Given the description of an element on the screen output the (x, y) to click on. 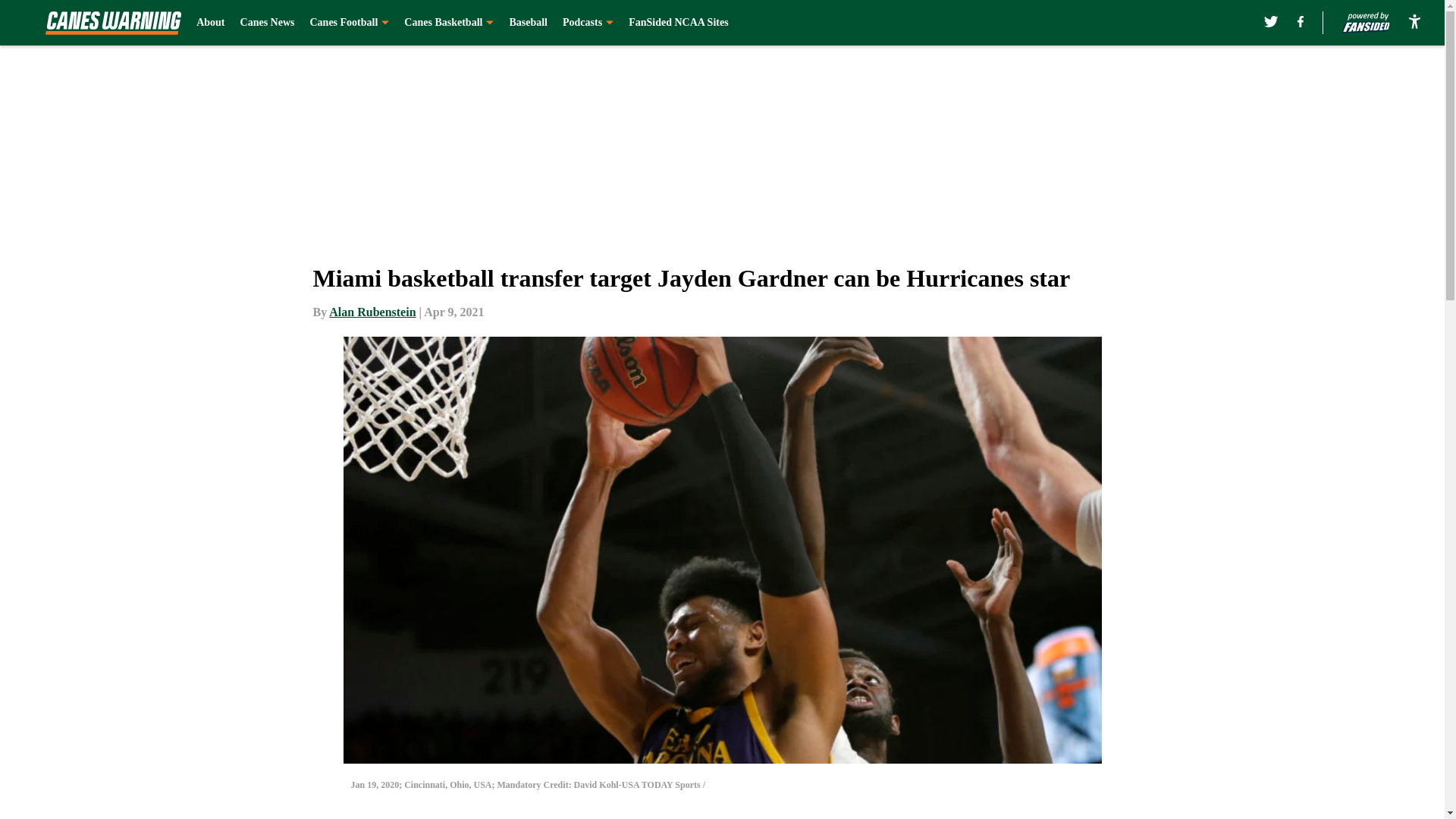
Alan Rubenstein (371, 311)
Baseball (527, 22)
Canes News (267, 22)
About (210, 22)
FanSided NCAA Sites (678, 22)
